Given the description of an element on the screen output the (x, y) to click on. 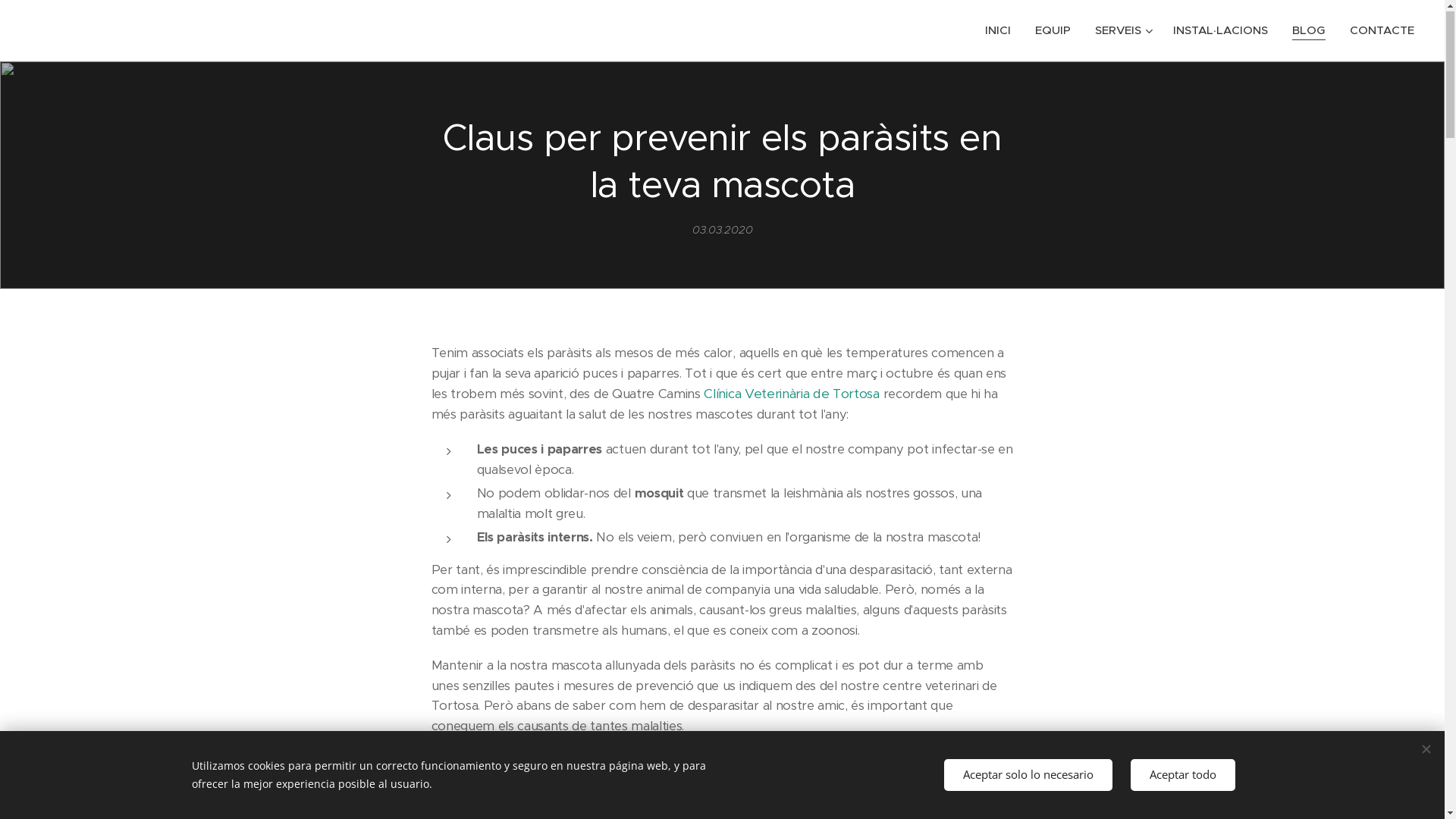
BLOG Element type: text (1308, 31)
INICI Element type: text (1001, 31)
SERVEIS Element type: text (1121, 31)
CONTACTE Element type: text (1375, 31)
Aceptar solo lo necesario Element type: text (1027, 774)
Aceptar todo Element type: text (1181, 774)
EQUIP Element type: text (1052, 31)
